Given the description of an element on the screen output the (x, y) to click on. 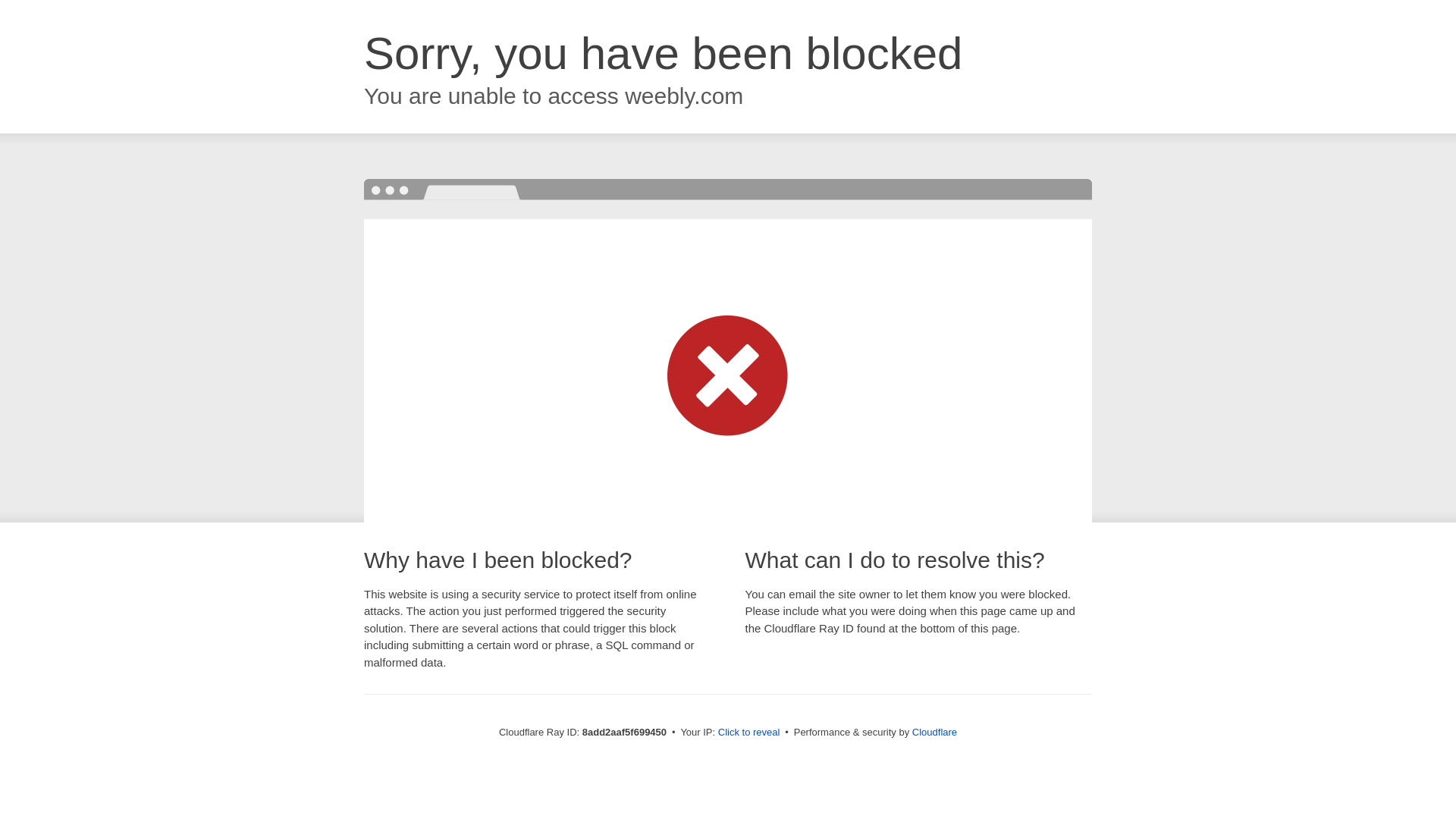
Click to reveal (748, 732)
Cloudflare (934, 731)
